Given the description of an element on the screen output the (x, y) to click on. 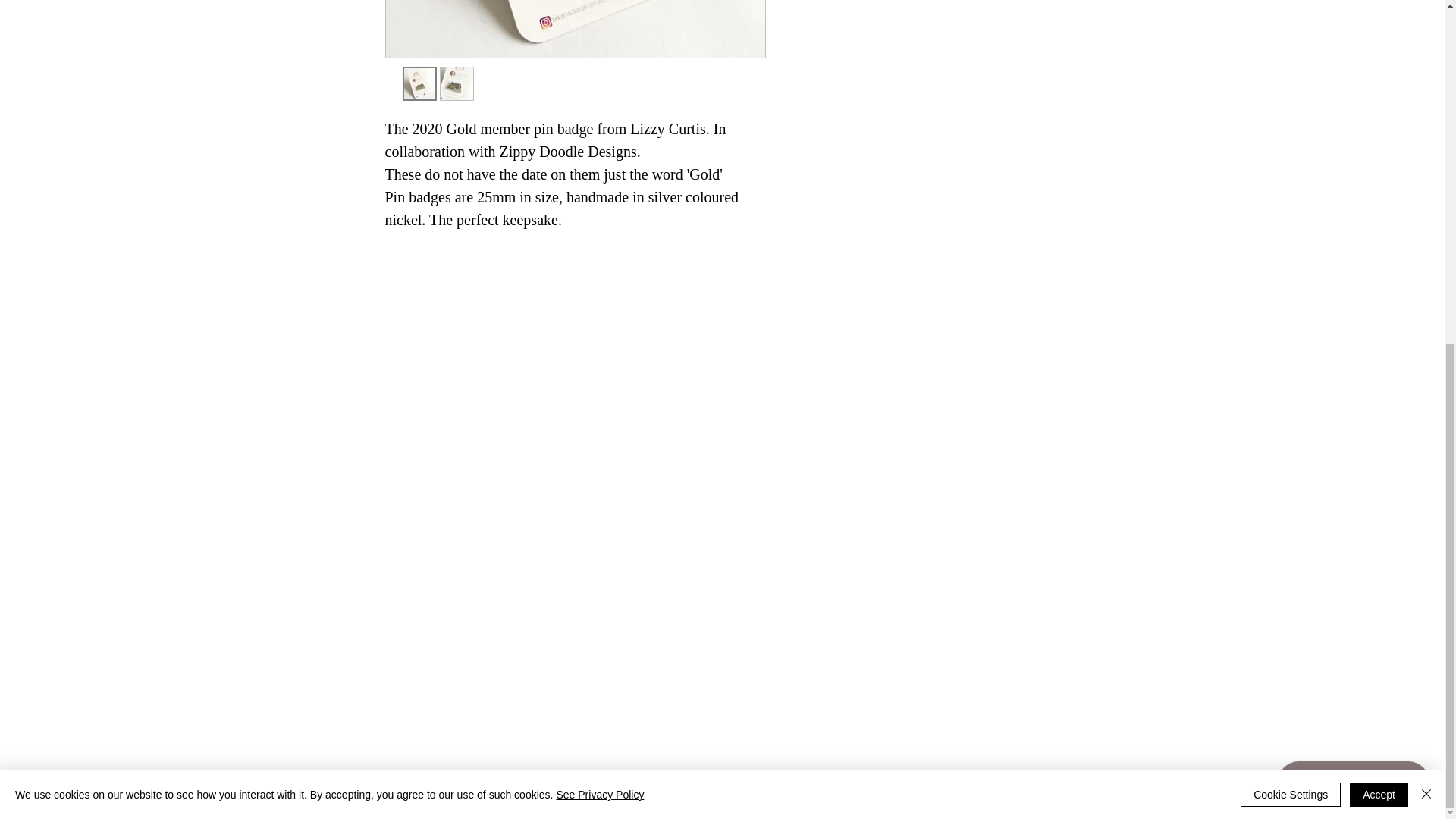
Accept (1378, 206)
Cookie Settings (1290, 206)
See Privacy Policy (599, 206)
